Given the description of an element on the screen output the (x, y) to click on. 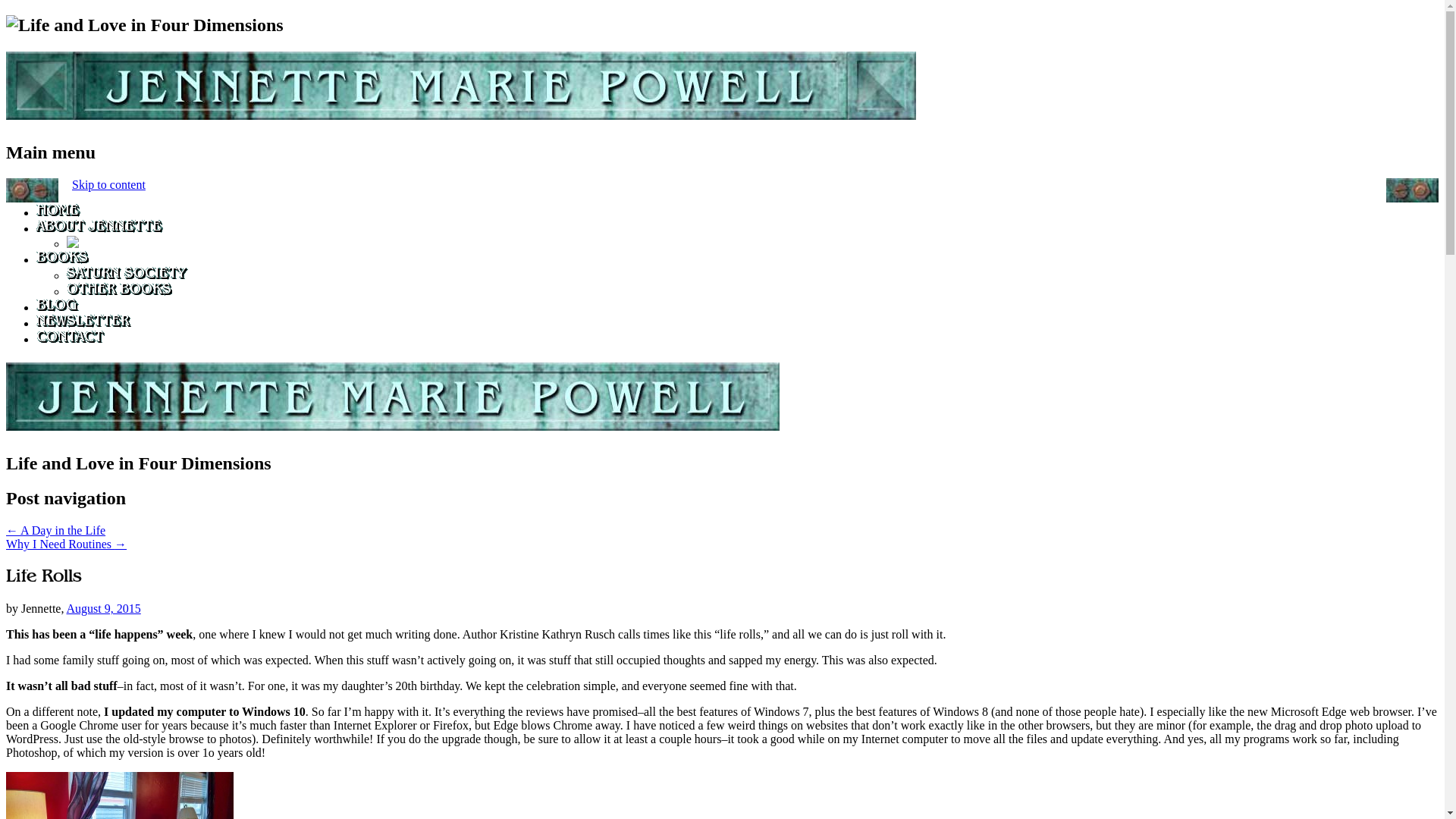
Other Books (118, 291)
Home (58, 212)
Jennette Marie Powell (391, 421)
Contact (70, 338)
Skip to content (108, 184)
August 9, 2015 (103, 608)
Saturn Society (127, 275)
Skip to content (108, 184)
Blog (58, 307)
Newsletter (84, 323)
